Given the description of an element on the screen output the (x, y) to click on. 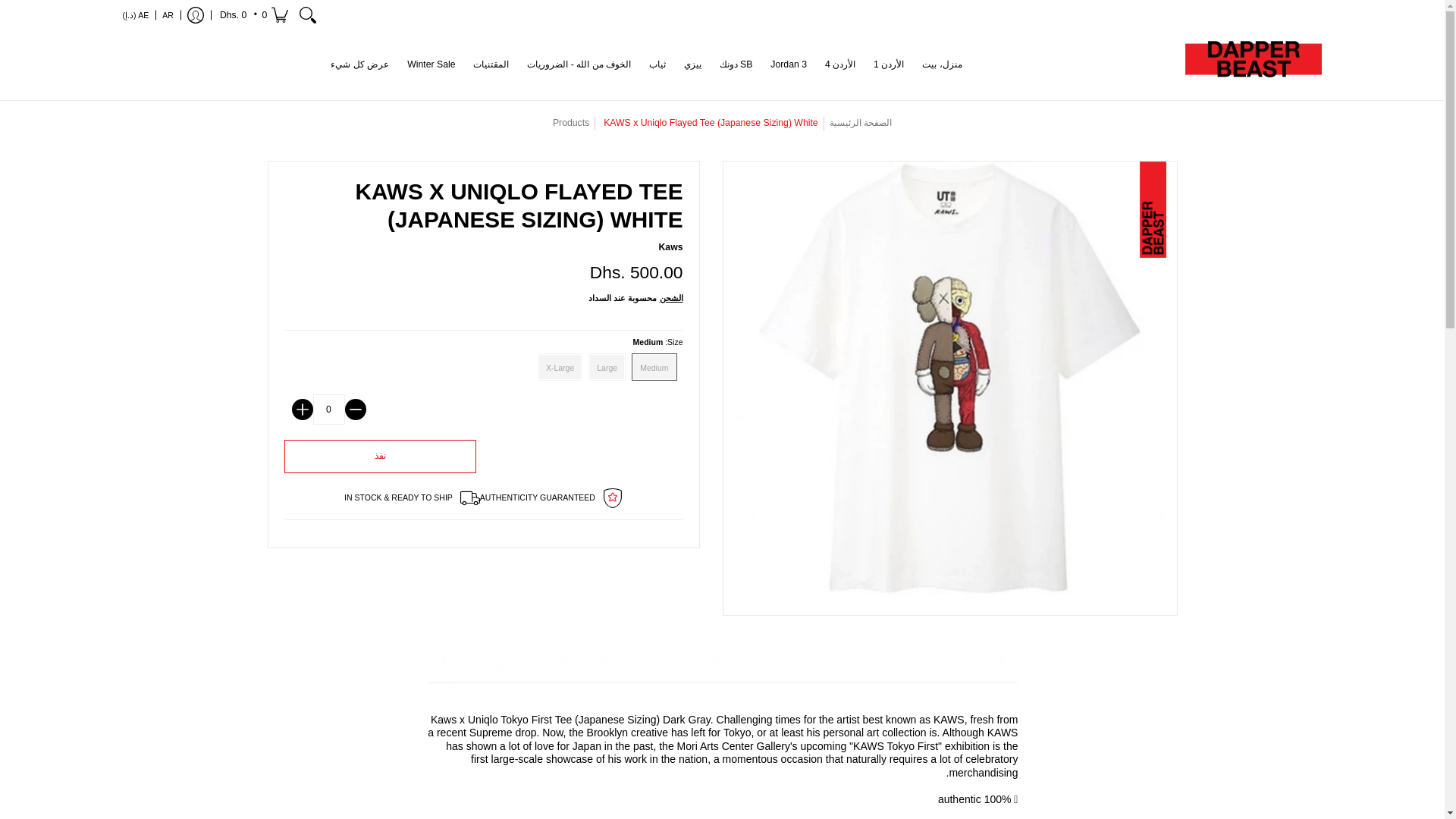
X-Large (562, 366)
Medium (656, 366)
Large (609, 366)
0 (328, 409)
